Given the description of an element on the screen output the (x, y) to click on. 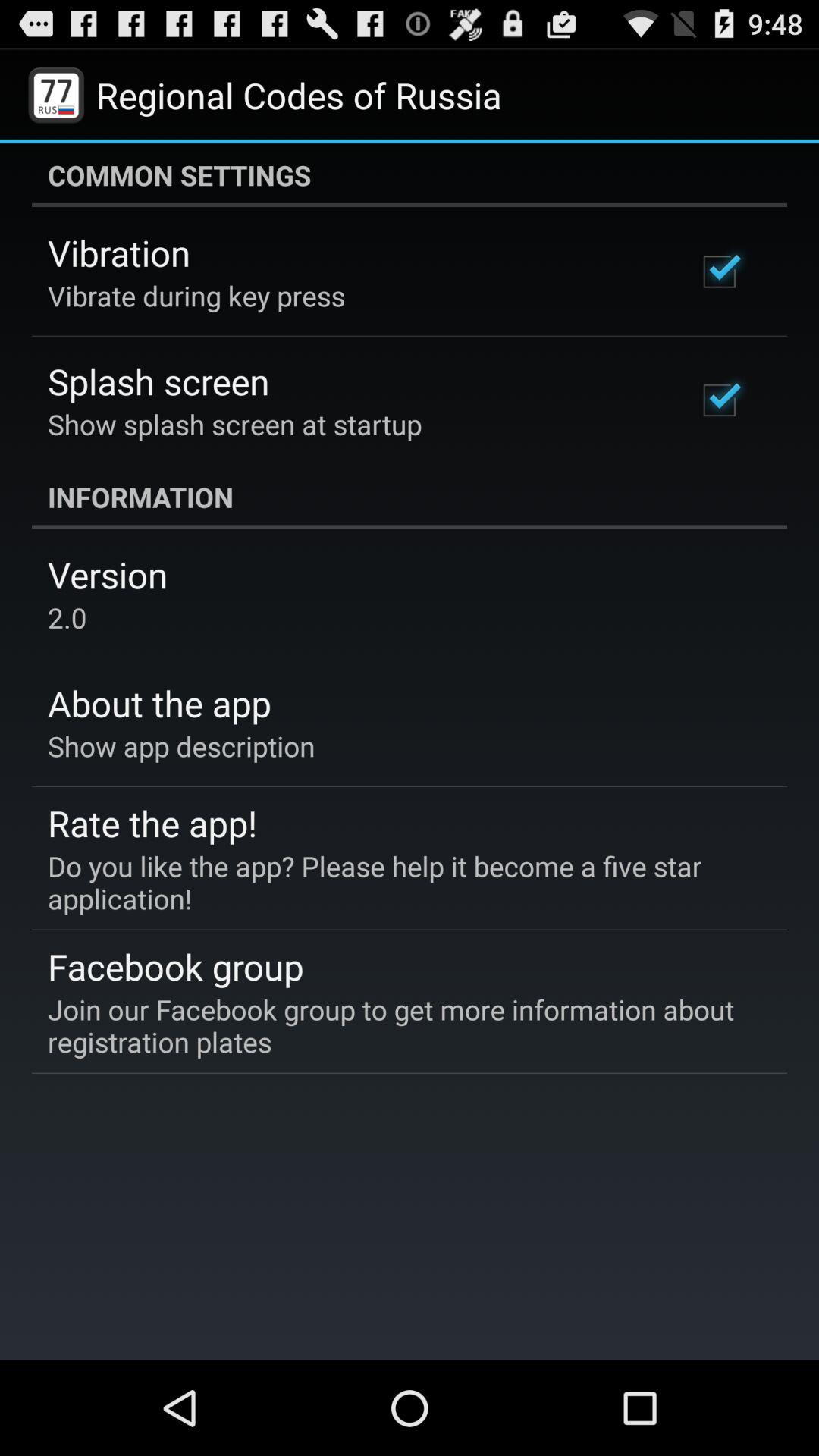
click icon above vibration icon (409, 175)
